Given the description of an element on the screen output the (x, y) to click on. 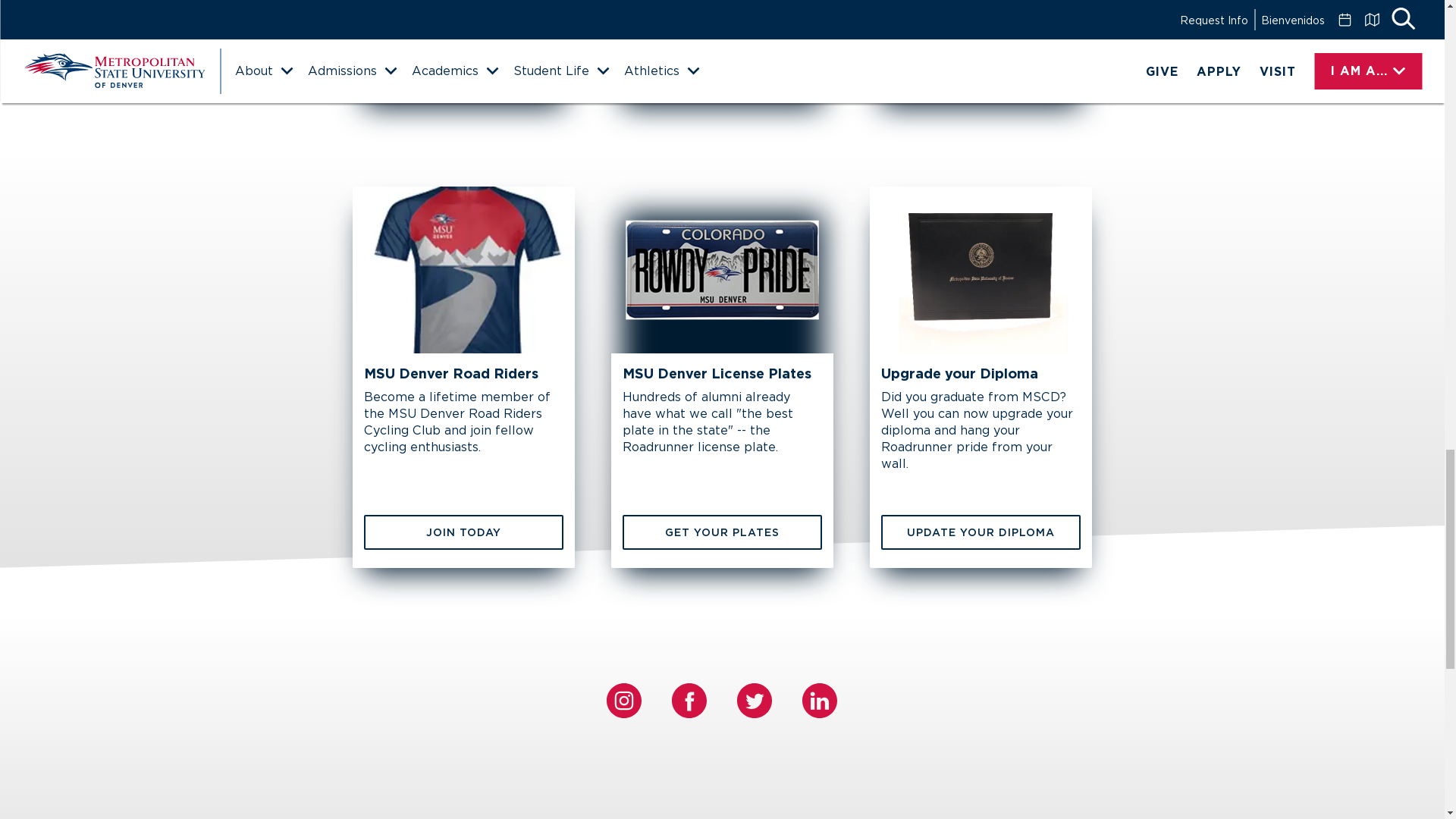
Twitter (753, 700)
LinkedIn (819, 700)
Facebook (688, 700)
Instagram (624, 700)
